Given the description of an element on the screen output the (x, y) to click on. 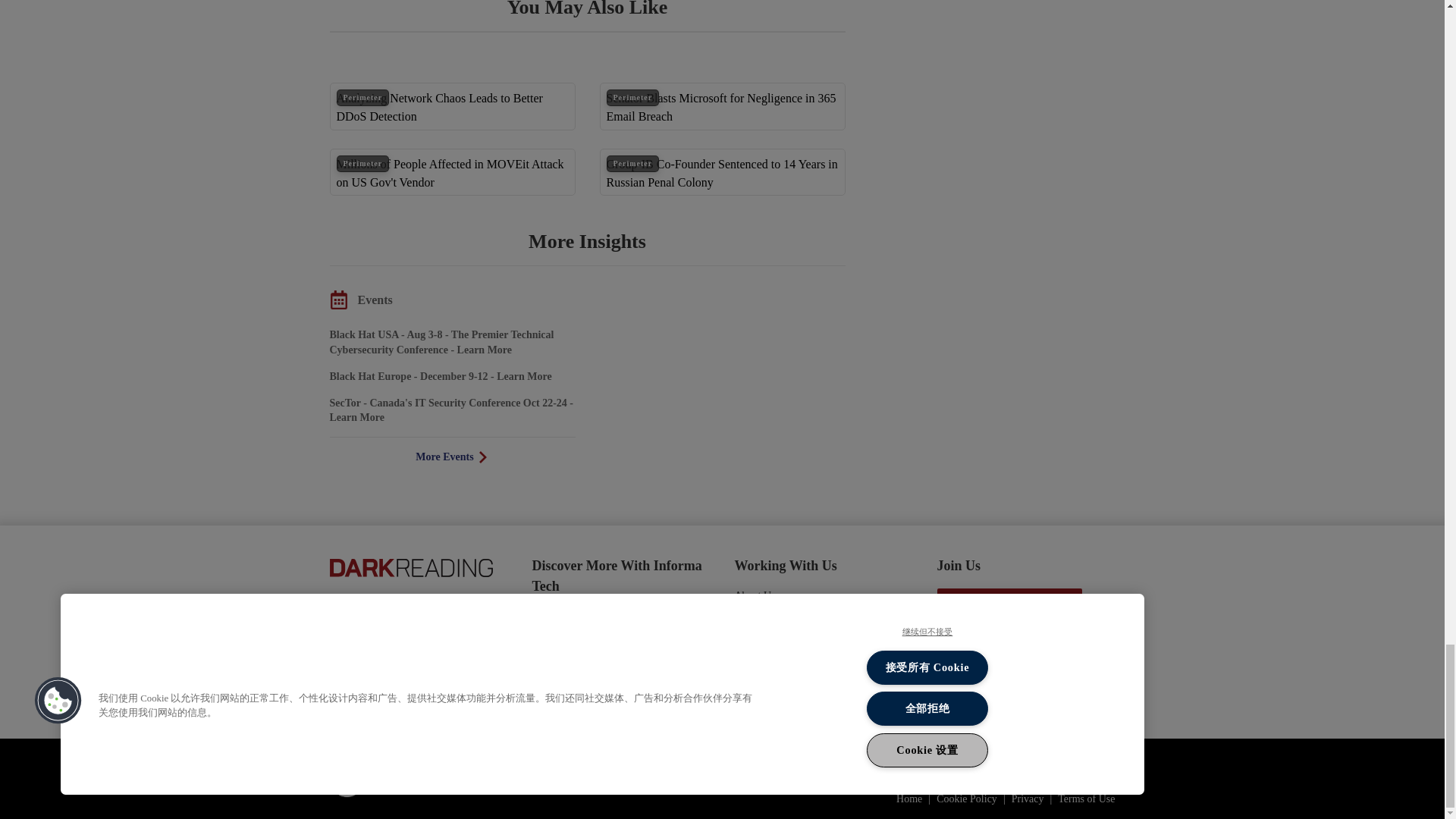
Logo (410, 566)
Informa Tech (404, 778)
